Given the description of an element on the screen output the (x, y) to click on. 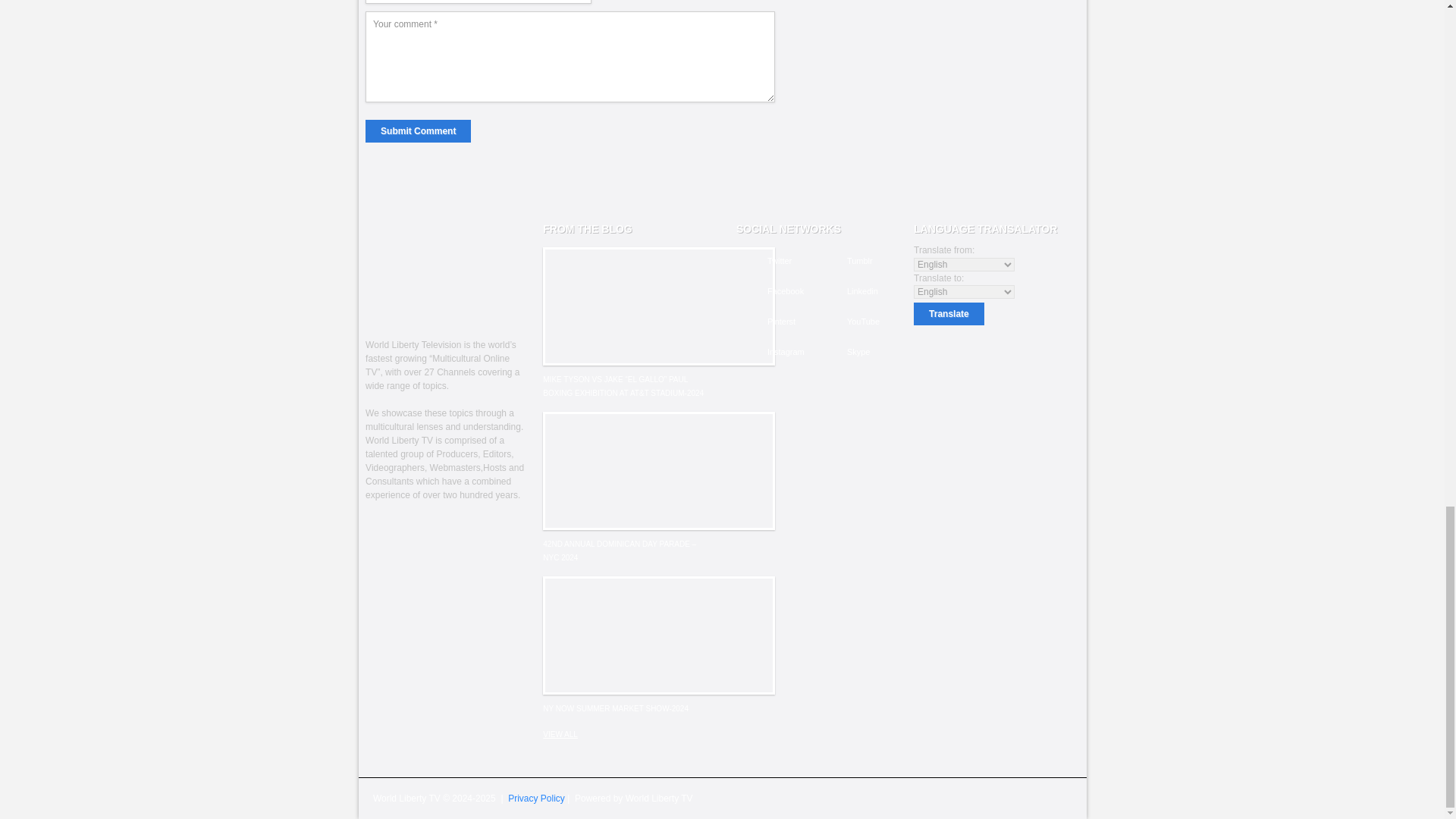
Website (478, 2)
Submit Comment (417, 130)
